Given the description of an element on the screen output the (x, y) to click on. 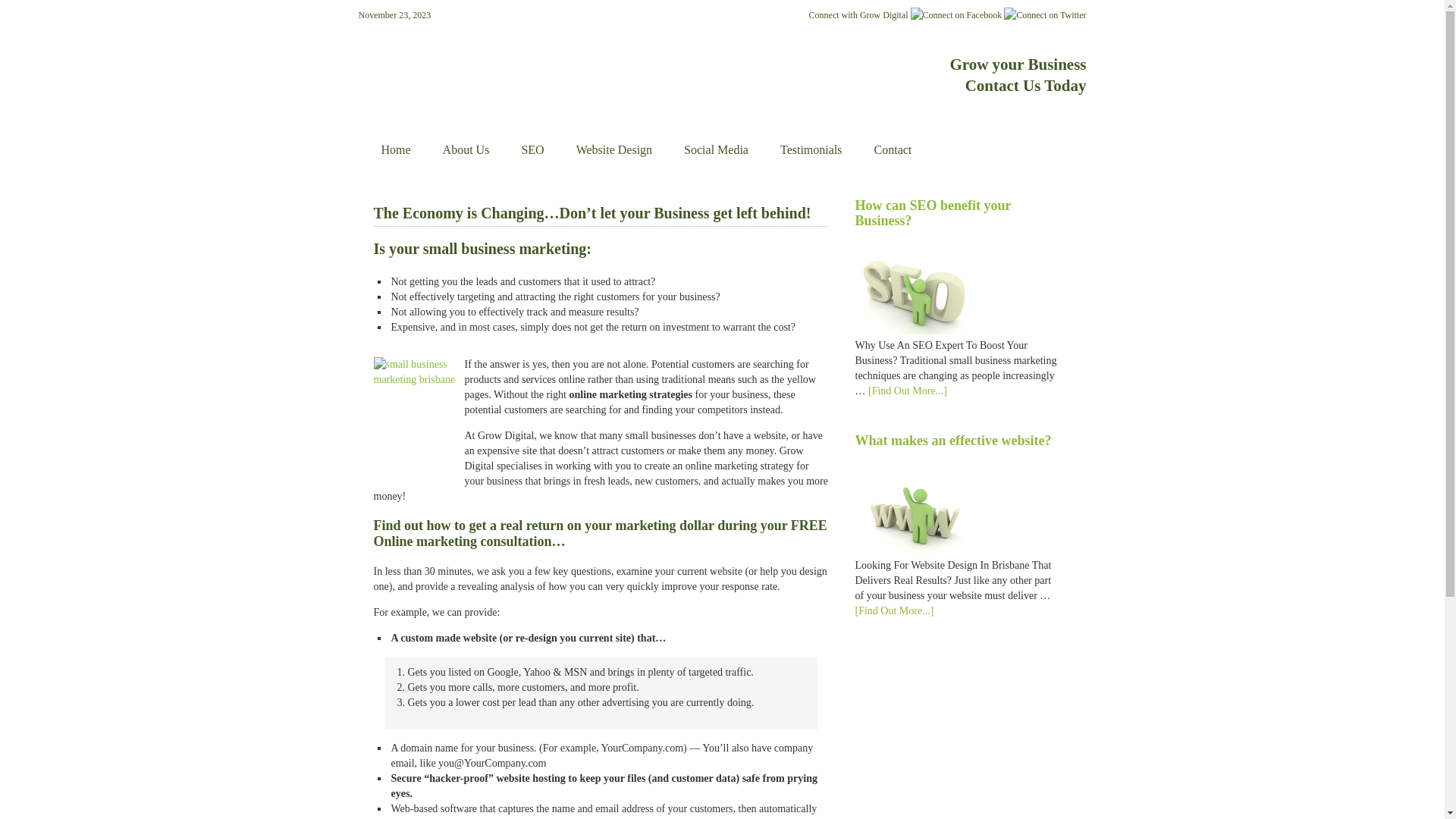
Website Design Element type: text (614, 149)
Website Design Element type: hover (915, 554)
[Find Out More...] Element type: text (907, 390)
About Us Element type: text (466, 149)
Grow Digital Element type: text (524, 79)
Social Media Element type: text (716, 149)
Testimonials Element type: text (812, 149)
[Find Out More...] Element type: text (894, 610)
Contact Element type: text (893, 149)
small-business-marketing-brisbane Element type: hover (414, 417)
SEO Element type: text (532, 149)
Home Element type: text (395, 149)
SEO Element type: hover (915, 334)
